Given the description of an element on the screen output the (x, y) to click on. 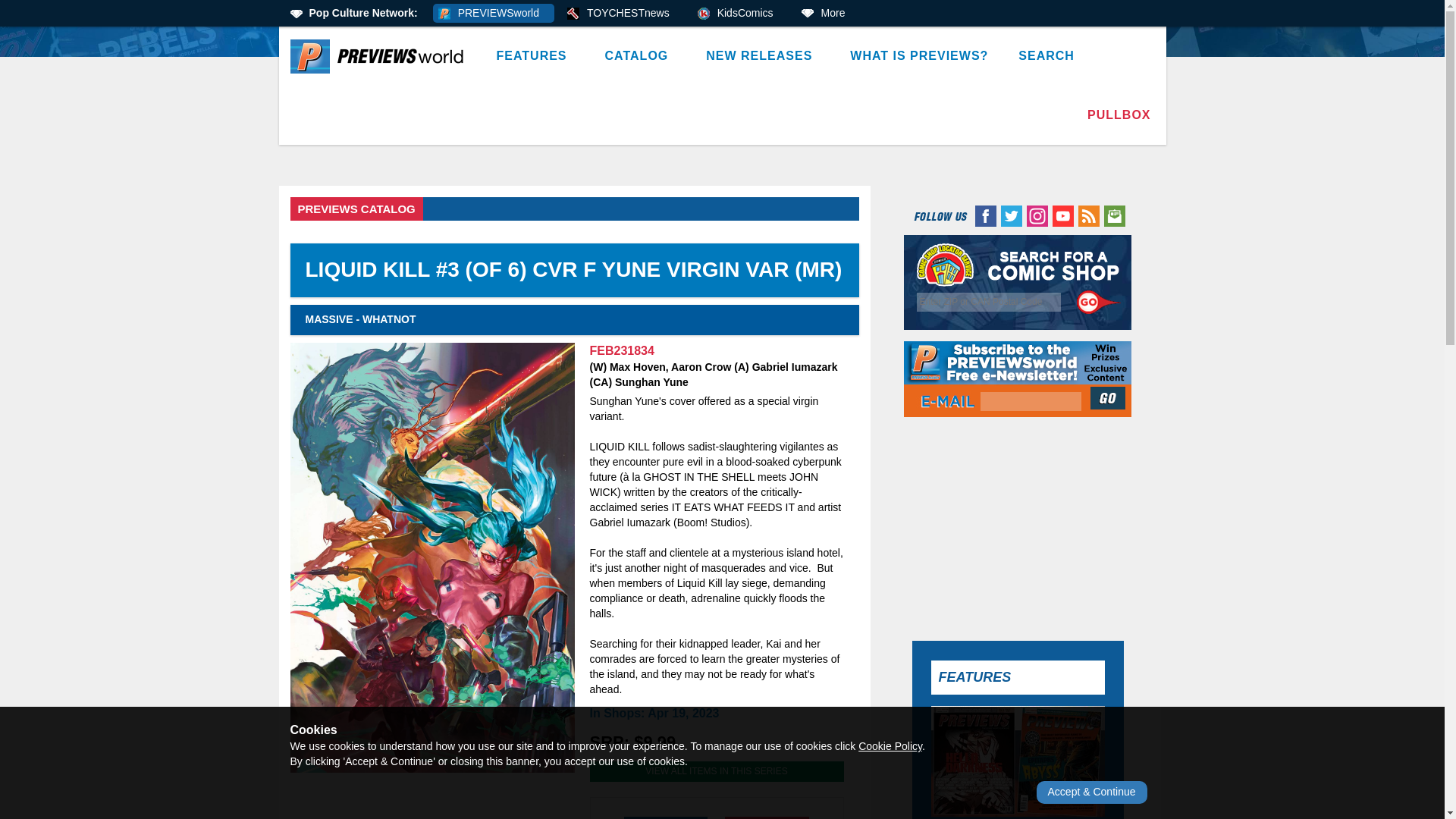
Email Address Input for Newsletter Signup (1030, 401)
More (828, 13)
TOYCHESTnews (623, 13)
FEATURES (534, 55)
CATALOG (640, 55)
PREVIEWSworld (493, 13)
KidsComics (741, 13)
Join Our NewsLetter (1109, 397)
Enter ZIP or CAN Postal Code (989, 302)
